Given the description of an element on the screen output the (x, y) to click on. 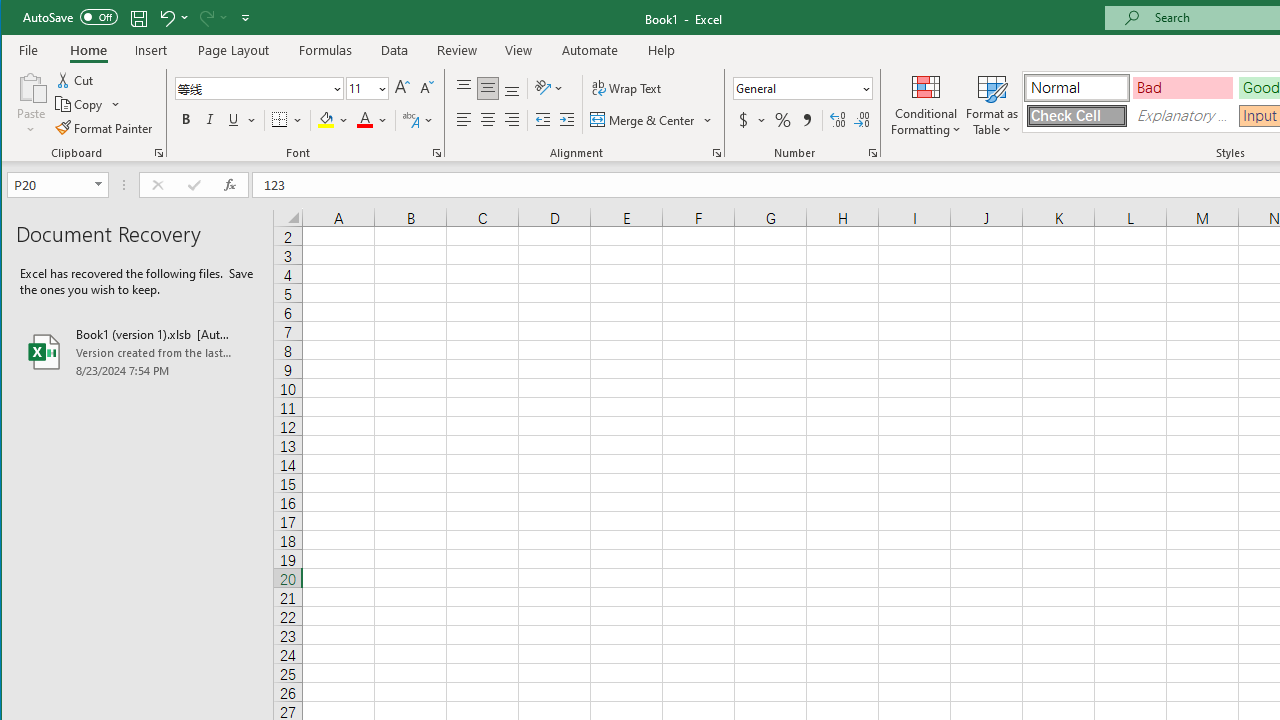
Decrease Font Size (425, 88)
Top Align (463, 88)
Format as Table (992, 104)
Underline (240, 119)
Copy (88, 103)
Conditional Formatting (926, 104)
Increase Indent (566, 119)
Format Cell Font (436, 152)
Font Size (367, 88)
Merge & Center (651, 119)
Align Right (511, 119)
